Given the description of an element on the screen output the (x, y) to click on. 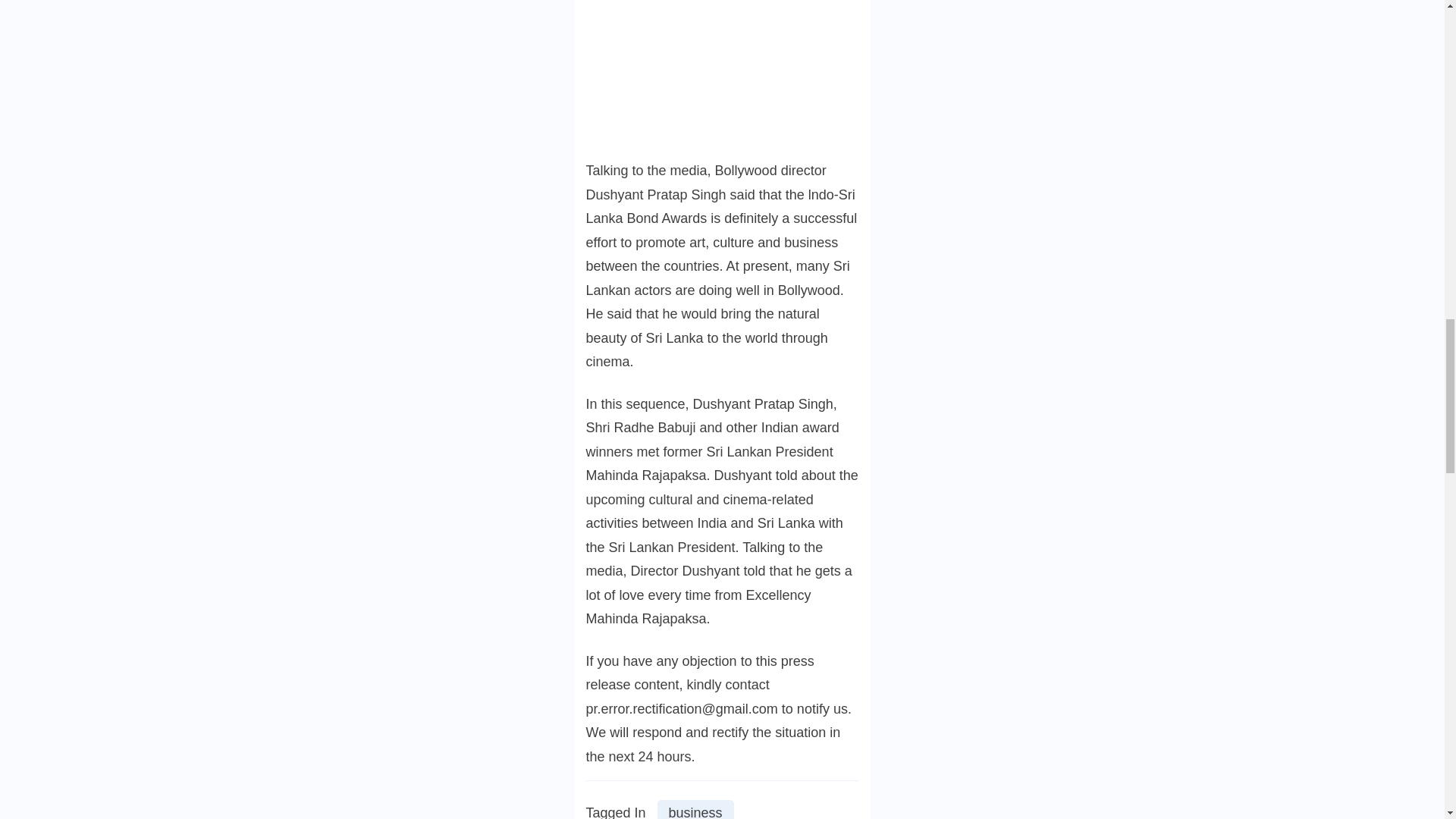
business (695, 809)
